Given the description of an element on the screen output the (x, y) to click on. 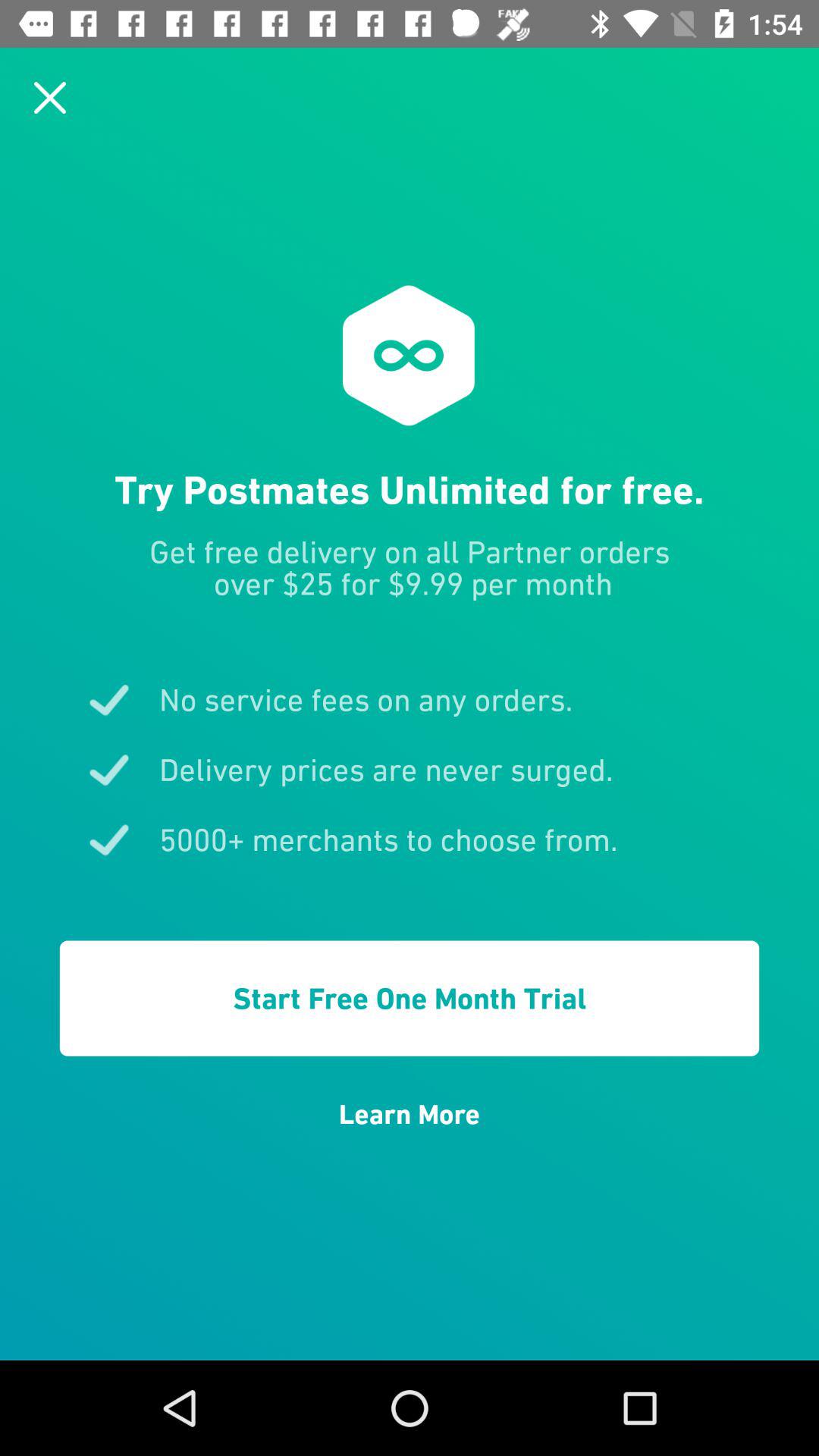
close the page (49, 97)
